Given the description of an element on the screen output the (x, y) to click on. 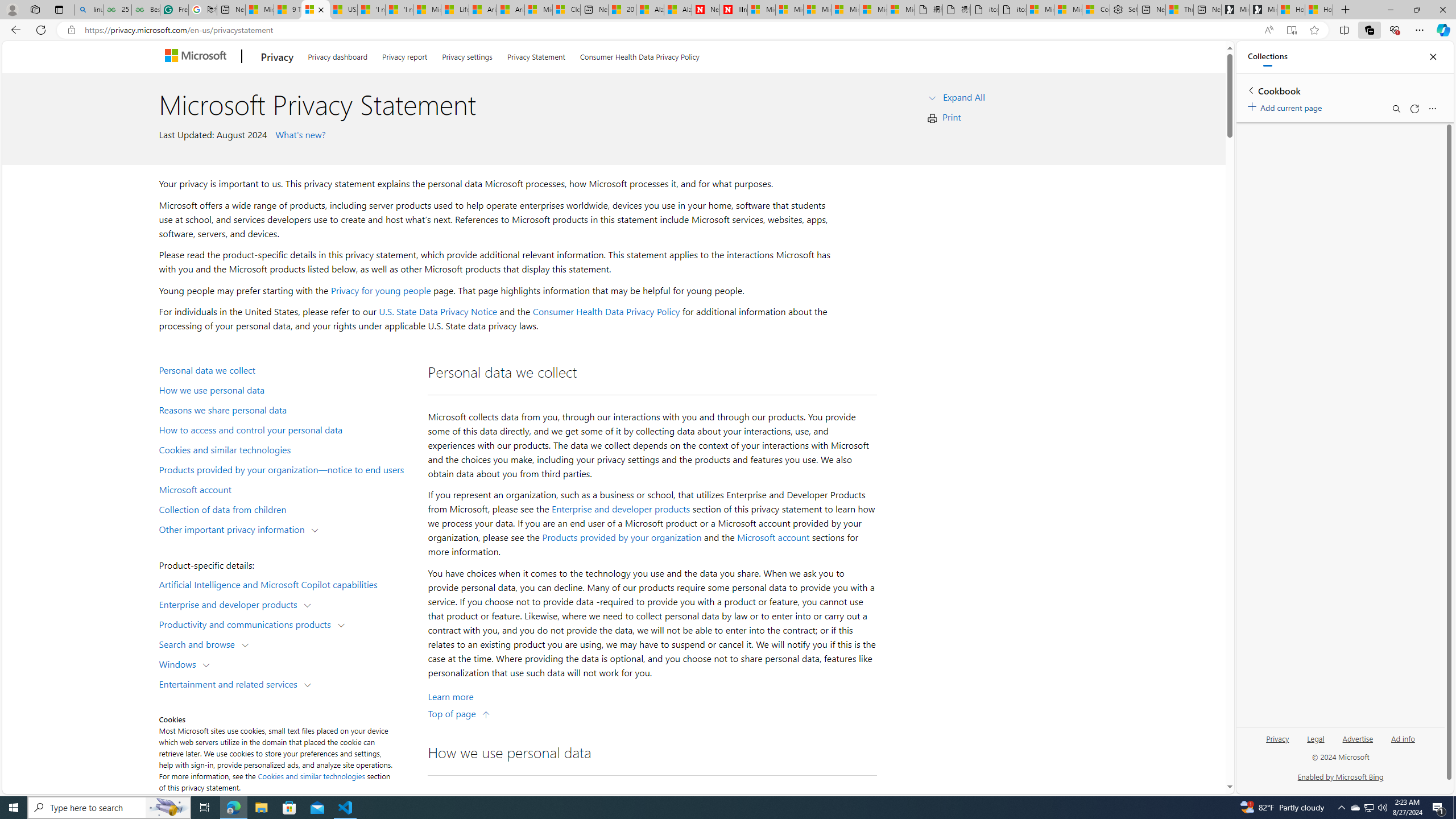
Collection of data from children (287, 508)
Personal data we collect (287, 368)
Print (951, 116)
Privacy dashboard (337, 54)
How to Use a TV as a Computer Monitor (1319, 9)
Enterprise and developer products (230, 603)
Consumer Health Data Privacy Policy (639, 54)
Three Ways To Stop Sweating So Much (1179, 9)
